Given the description of an element on the screen output the (x, y) to click on. 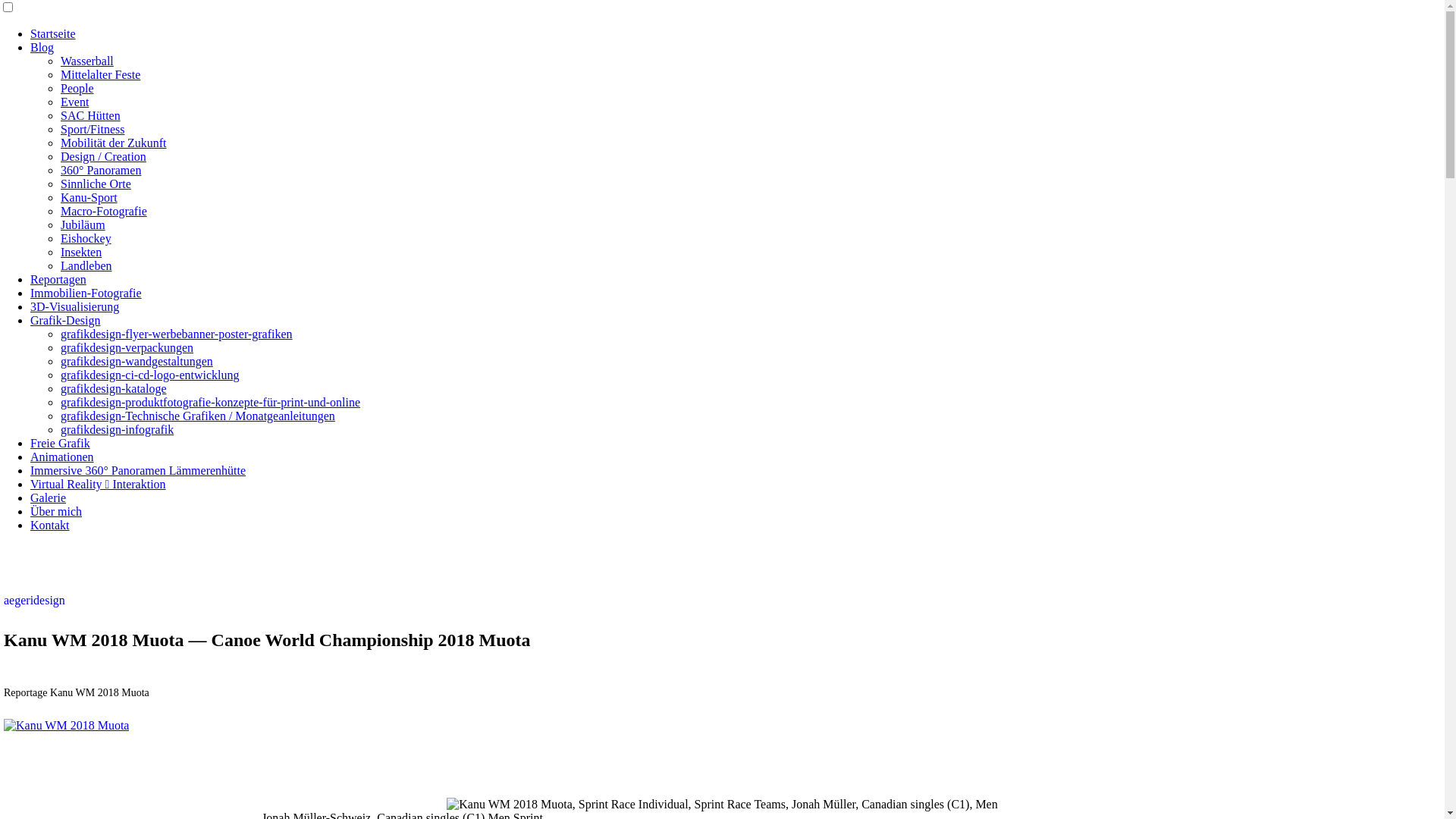
Startseite Element type: text (52, 33)
Wasserball Element type: text (86, 60)
Freie Grafik Element type: text (60, 442)
Sinnliche Orte Element type: text (95, 183)
3D-Visualisierung Element type: text (74, 306)
aegeridesign Element type: text (34, 599)
Macro-Fotografie Element type: text (103, 210)
People Element type: text (77, 87)
Animationen Element type: text (62, 456)
grafikdesign-wandgestaltungen Element type: text (136, 360)
Immobilien-Fotografie Element type: text (85, 292)
Kontakt Element type: text (49, 524)
grafikdesign-verpackungen Element type: text (126, 347)
Landleben Element type: text (86, 265)
Sport/Fitness Element type: text (92, 128)
Event Element type: text (74, 101)
grafikdesign-flyer-werbebanner-poster-grafiken Element type: text (176, 333)
Eishockey Element type: text (85, 238)
grafikdesign-ci-cd-logo-entwicklung Element type: text (149, 374)
Grafik-Design Element type: text (65, 319)
Kanu-Sport Element type: text (88, 197)
grafikdesign-infografik Element type: text (116, 429)
grafikdesign-Technische Grafiken / Monatgeanleitungen Element type: text (197, 415)
grafikdesign-kataloge Element type: text (113, 388)
Blog Element type: text (41, 46)
Insekten Element type: text (80, 251)
Galerie Element type: text (47, 497)
Mittelalter Feste Element type: text (100, 74)
Reportagen Element type: text (58, 279)
Design / Creation Element type: text (103, 156)
